Given the description of an element on the screen output the (x, y) to click on. 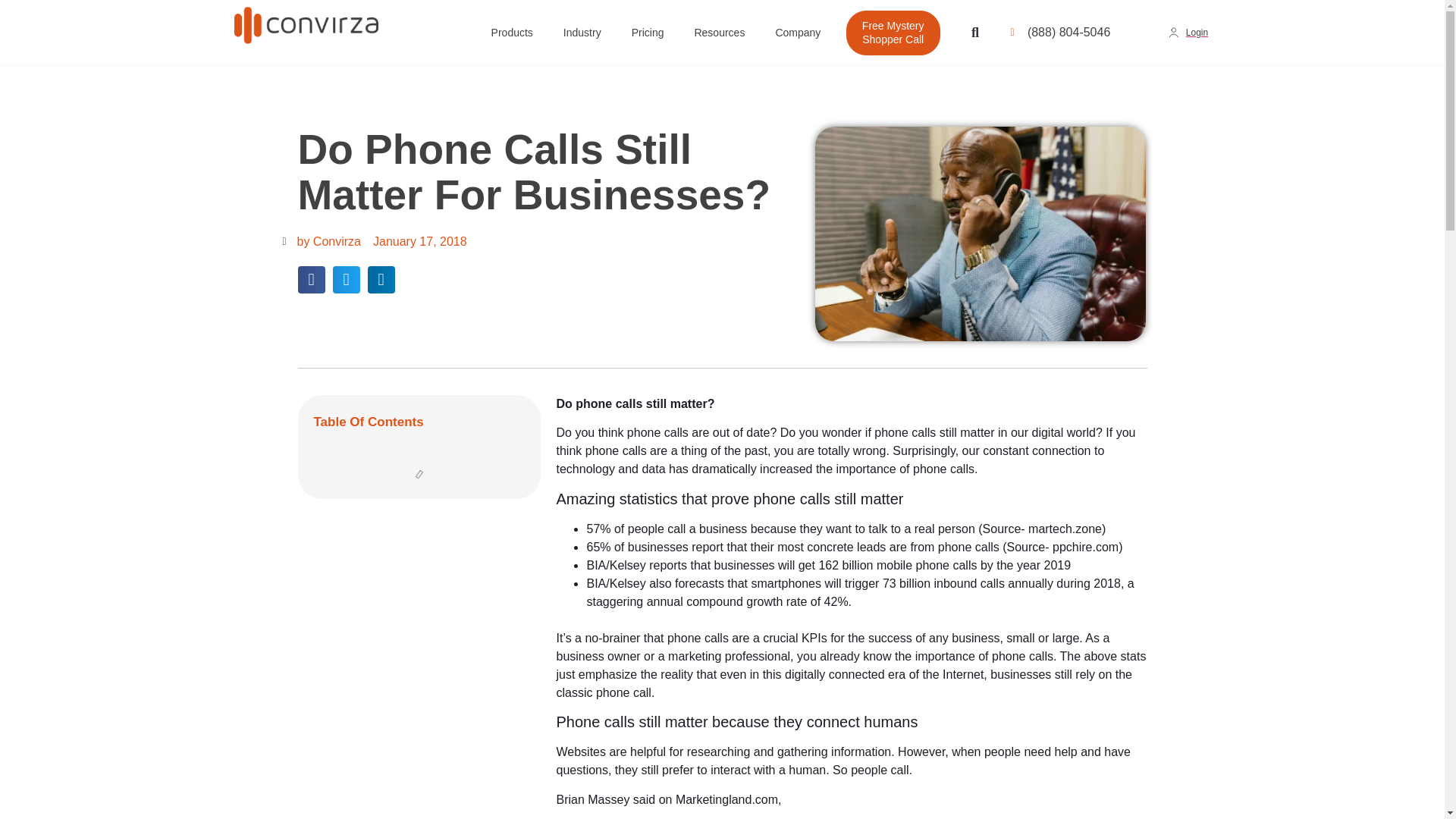
Industry (581, 32)
Products (512, 32)
Company (797, 32)
Phone call for business (980, 233)
Pricing (647, 32)
Resources (719, 32)
